Given the description of an element on the screen output the (x, y) to click on. 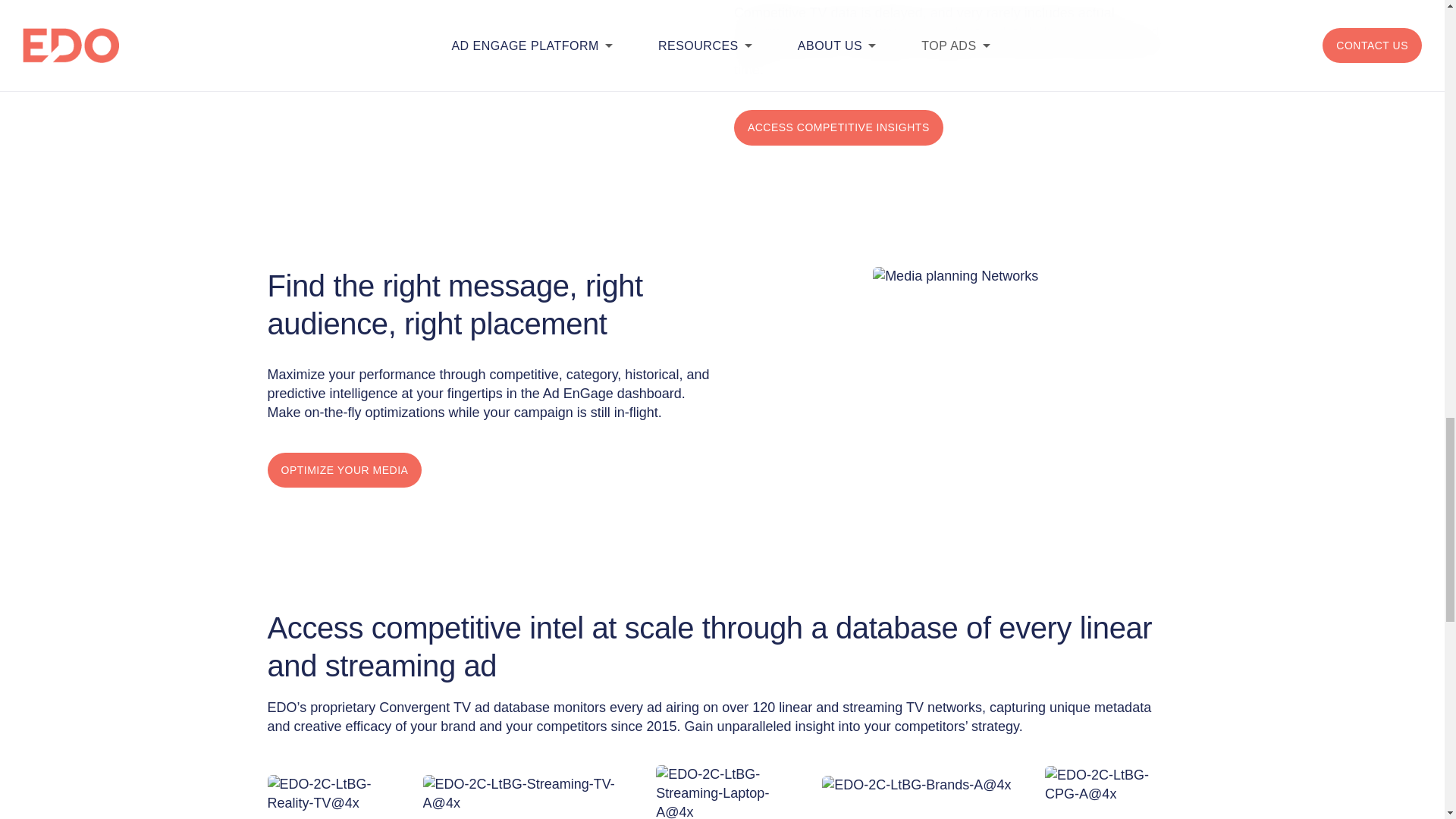
Button OPTIMIZE YOUR MEDIA (344, 469)
Media planning Networks (955, 275)
Button ACCESS COMPETITIVE INSIGHTS (838, 126)
